Given the description of an element on the screen output the (x, y) to click on. 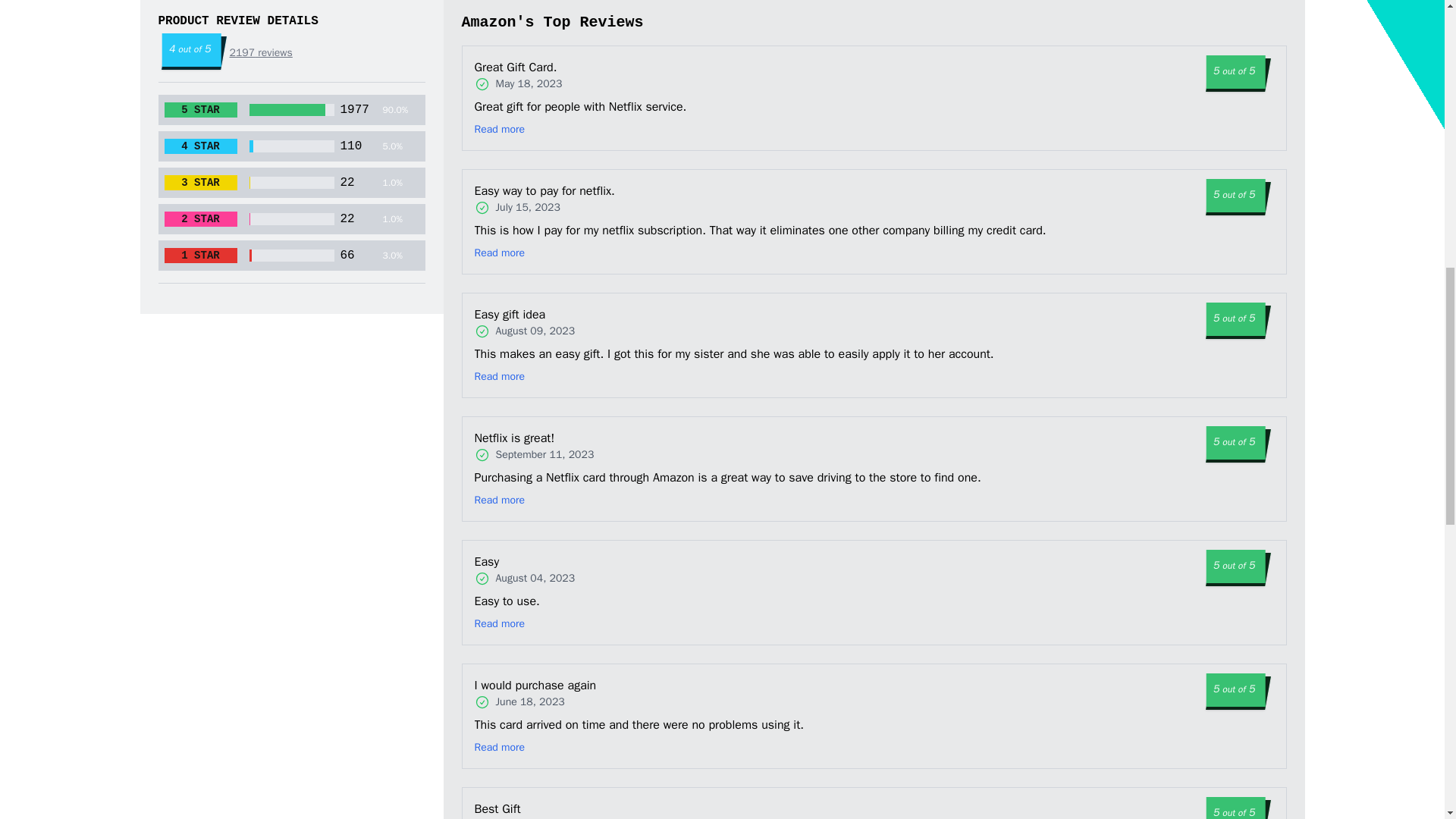
Netflix is great! (554, 438)
Read more (499, 253)
Read more (499, 623)
Great Gift Card. (544, 67)
Easy (528, 561)
Easy way to pay for netflix. (562, 190)
Easy gift idea (544, 314)
Best Gift (542, 809)
Read more (499, 747)
Read more (499, 500)
I would purchase again (558, 685)
Read more (499, 129)
Read more (499, 376)
